Given the description of an element on the screen output the (x, y) to click on. 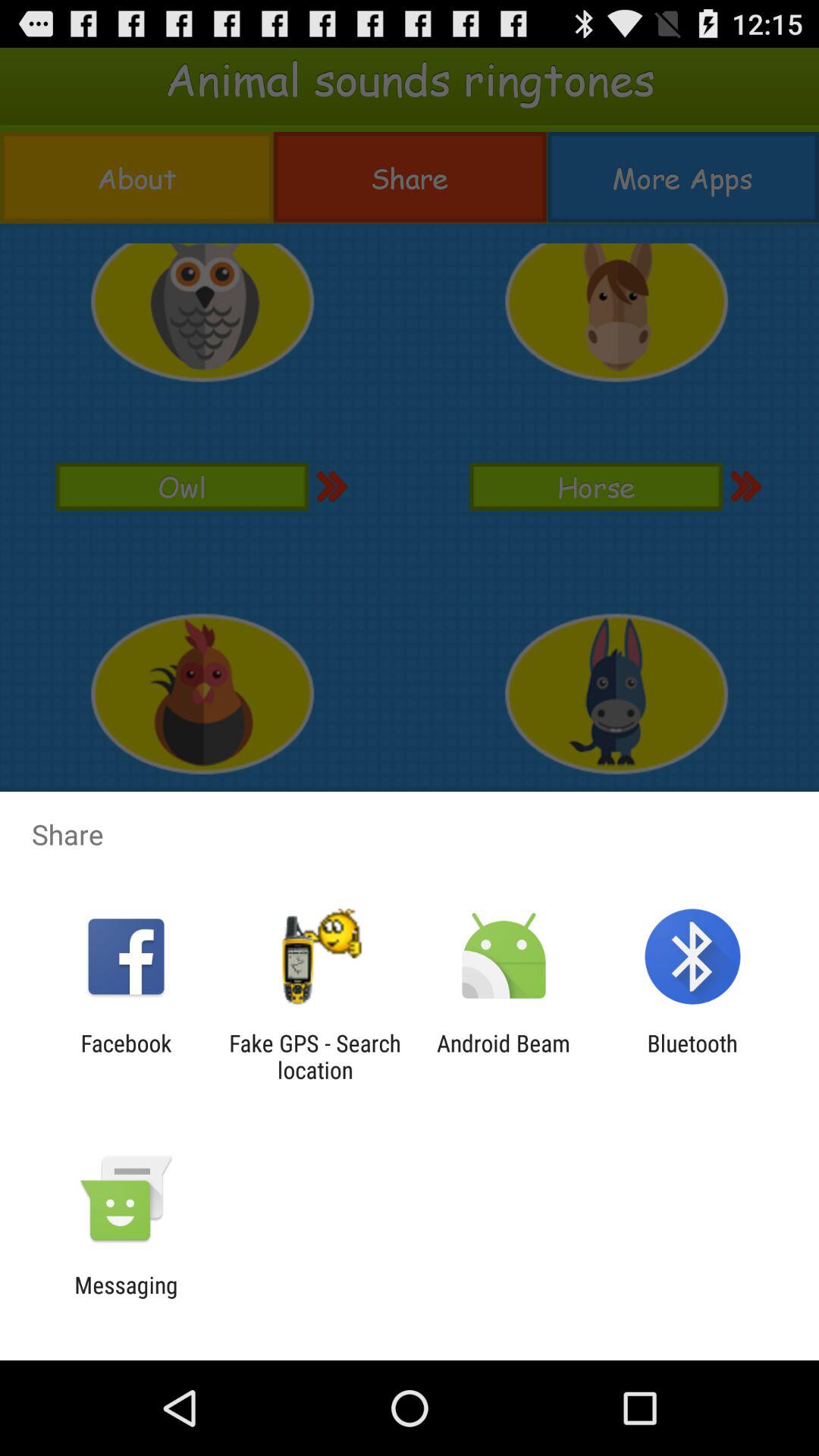
choose app next to android beam app (314, 1056)
